Given the description of an element on the screen output the (x, y) to click on. 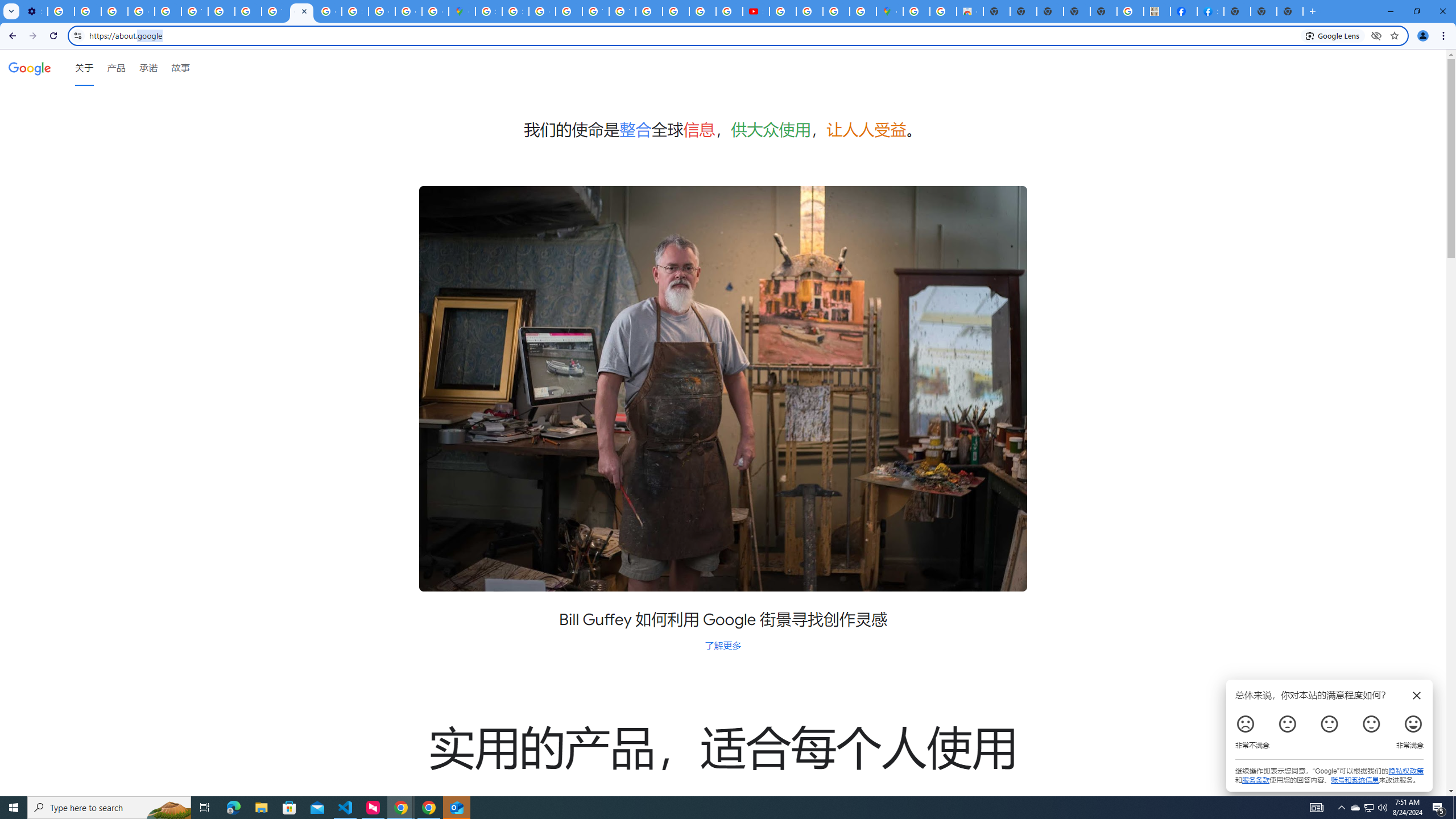
Terms and Conditions (595, 11)
Terms and Conditions (622, 11)
Sign in - Google Accounts (355, 11)
